Given the description of an element on the screen output the (x, y) to click on. 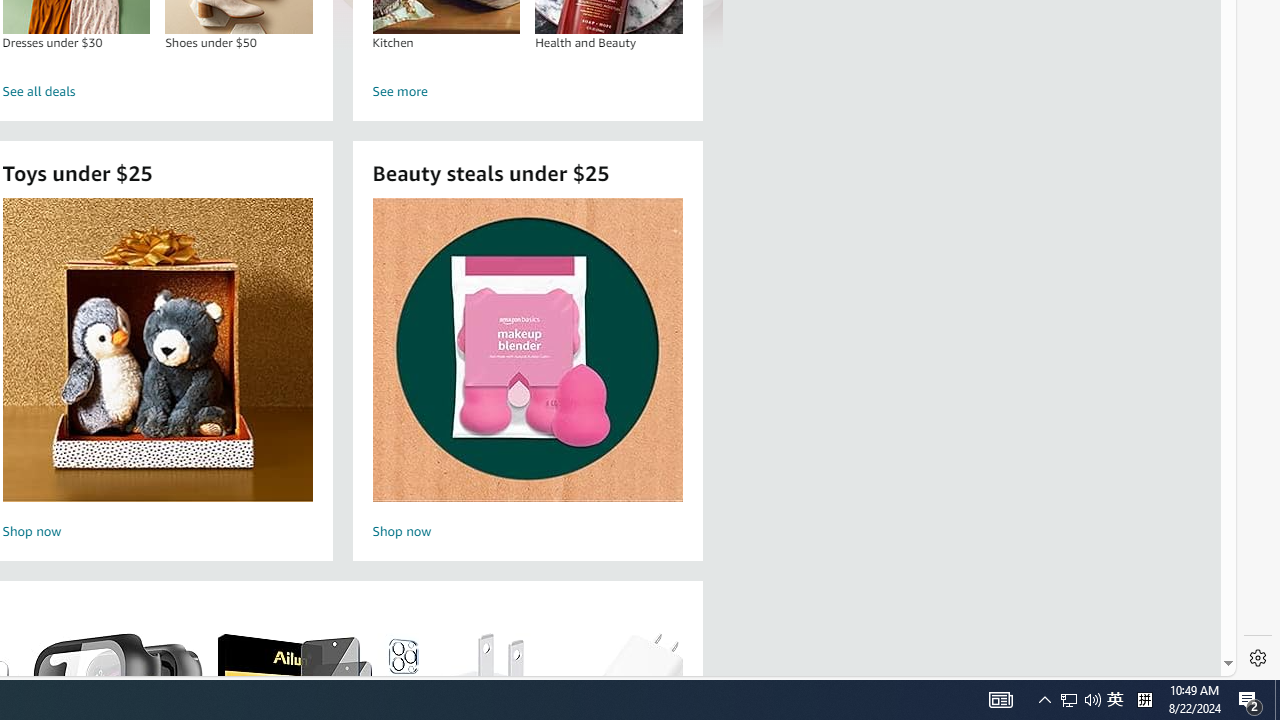
See all deals (157, 92)
Beauty steals under $25 (526, 349)
Beauty steals under $25 Shop now (527, 371)
